Given the description of an element on the screen output the (x, y) to click on. 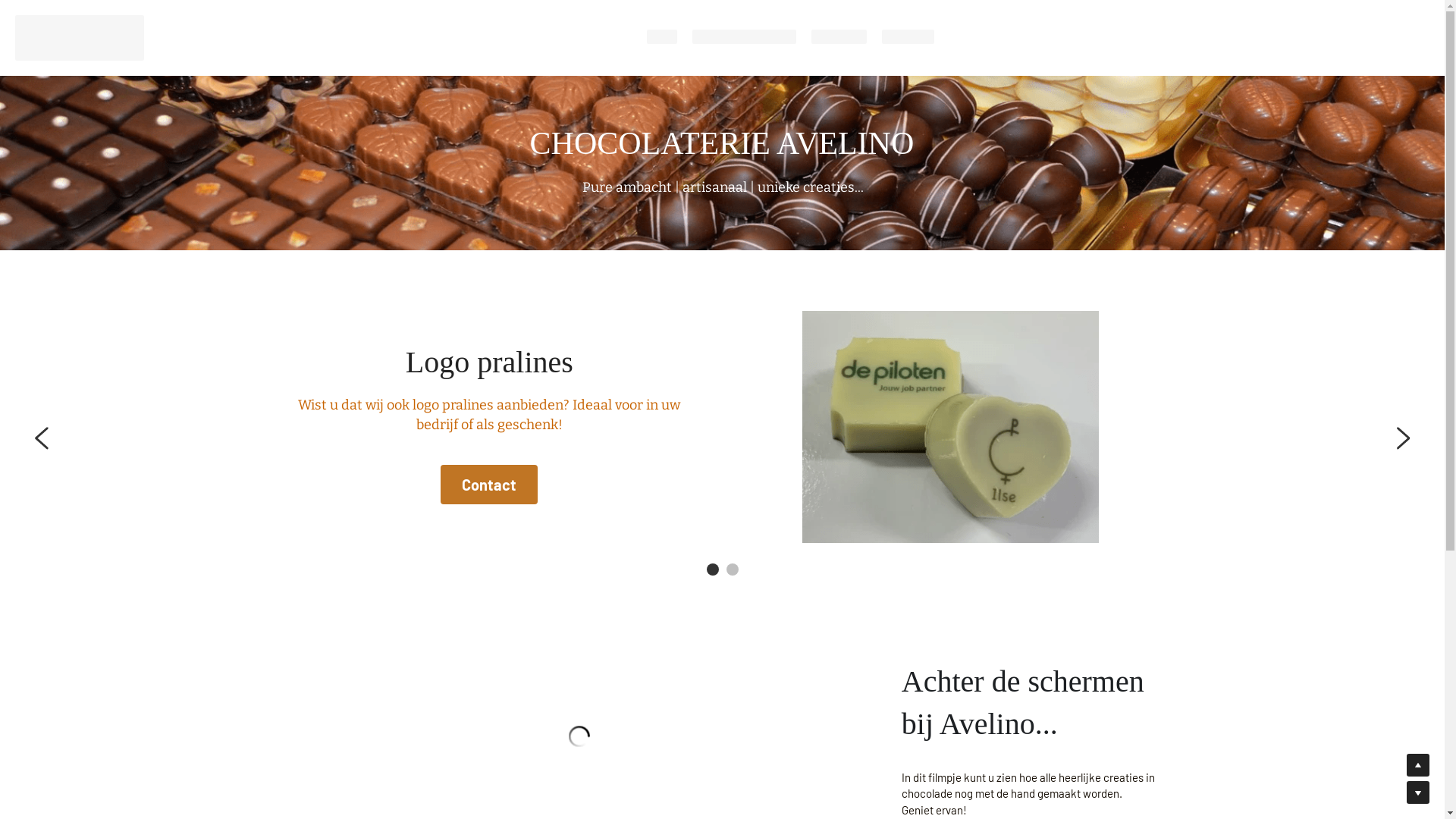
CONTACT Element type: text (907, 37)
OVER ONS Element type: text (838, 37)
HOME Element type: text (661, 37)
Contact Element type: text (488, 484)
ONS ASSORTIMENT Element type: text (744, 37)
